Given the description of an element on the screen output the (x, y) to click on. 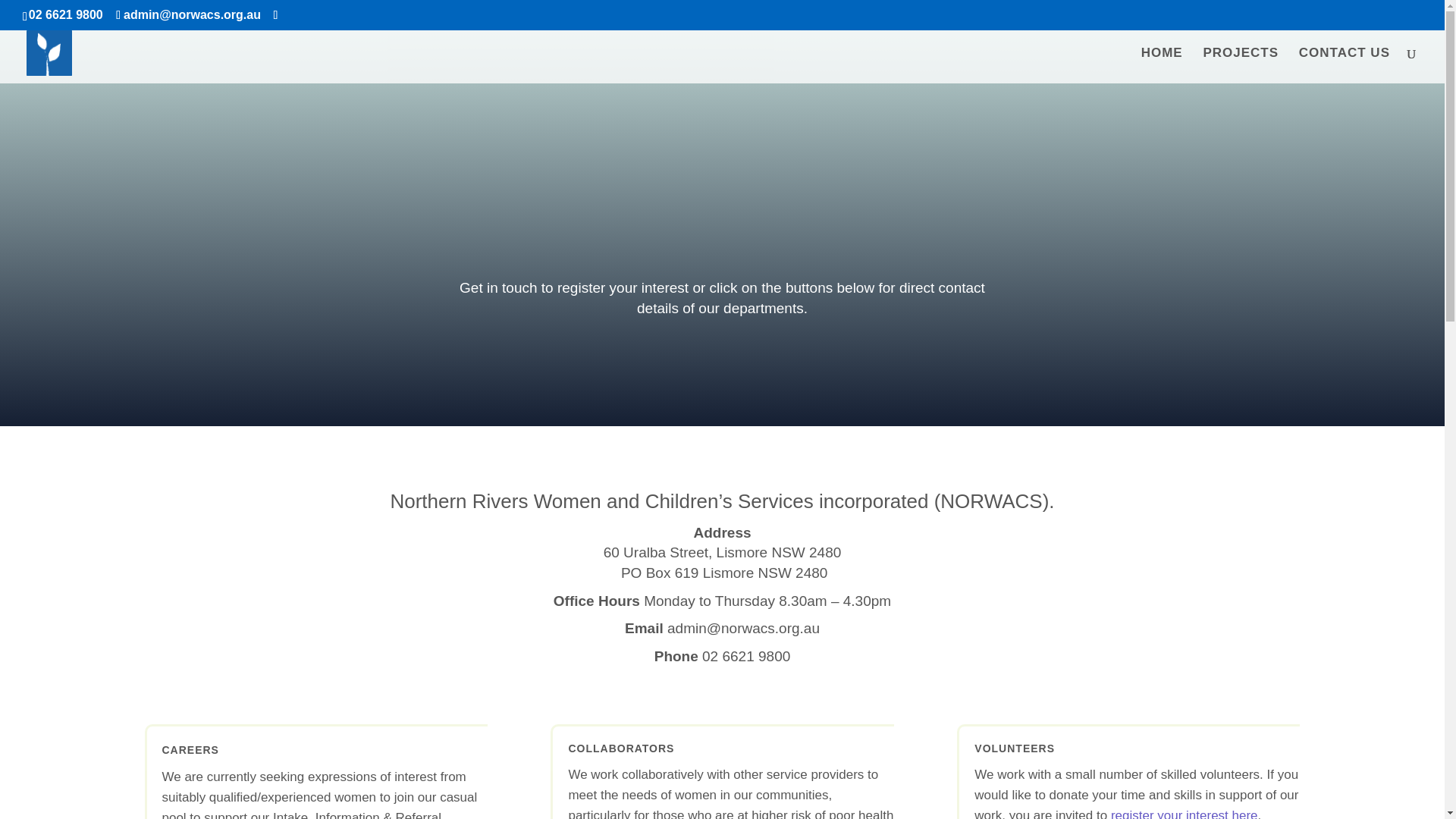
HOME (1161, 65)
CONTACT US (1344, 65)
PROJECTS (1240, 65)
02 6621 9800 (745, 656)
register your interest here (1183, 813)
